Given the description of an element on the screen output the (x, y) to click on. 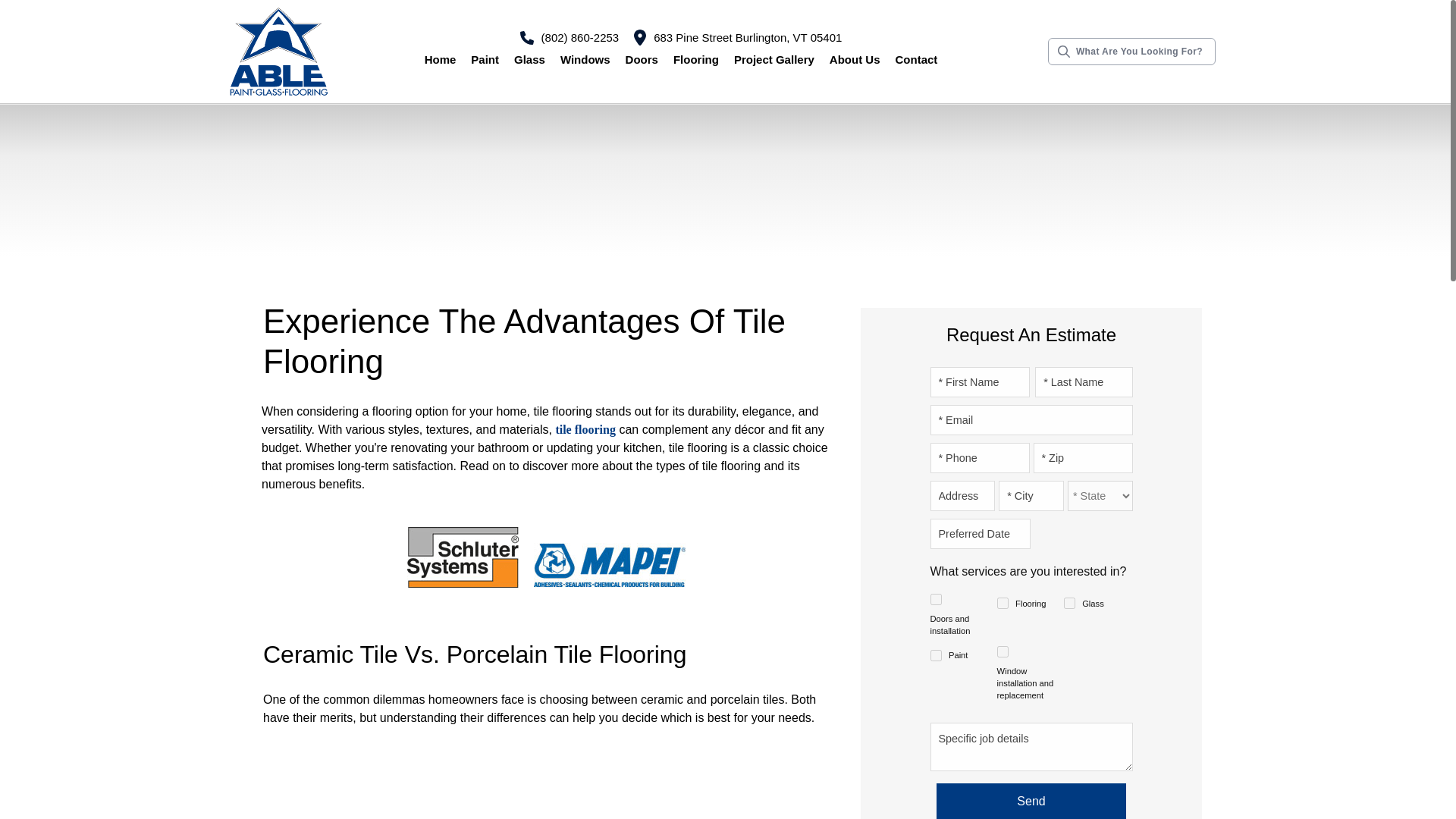
Paint (484, 59)
Windows (585, 59)
flooring (1003, 603)
Home (440, 59)
Send (1030, 800)
Doors (641, 59)
Glass (529, 59)
About Us (855, 59)
Flooring (695, 59)
683 Pine Street Burlington, VT 05401 (737, 36)
Project Gallery (774, 59)
paint (935, 655)
glass (1069, 603)
